Given the description of an element on the screen output the (x, y) to click on. 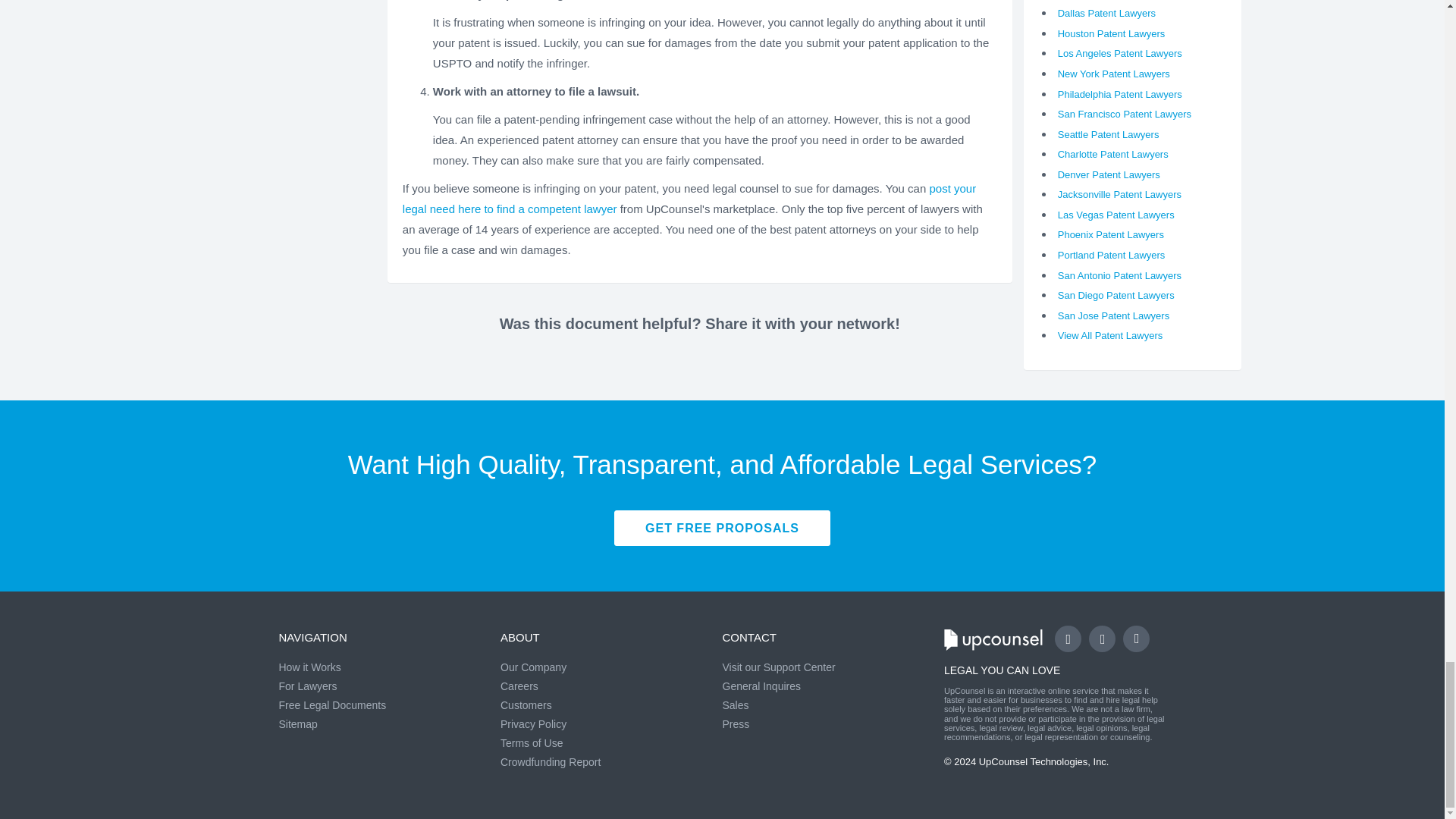
Follow us on Twitter (1102, 638)
Like us on Facebook (1067, 638)
Connect with us on LinkedIn (1136, 638)
